Given the description of an element on the screen output the (x, y) to click on. 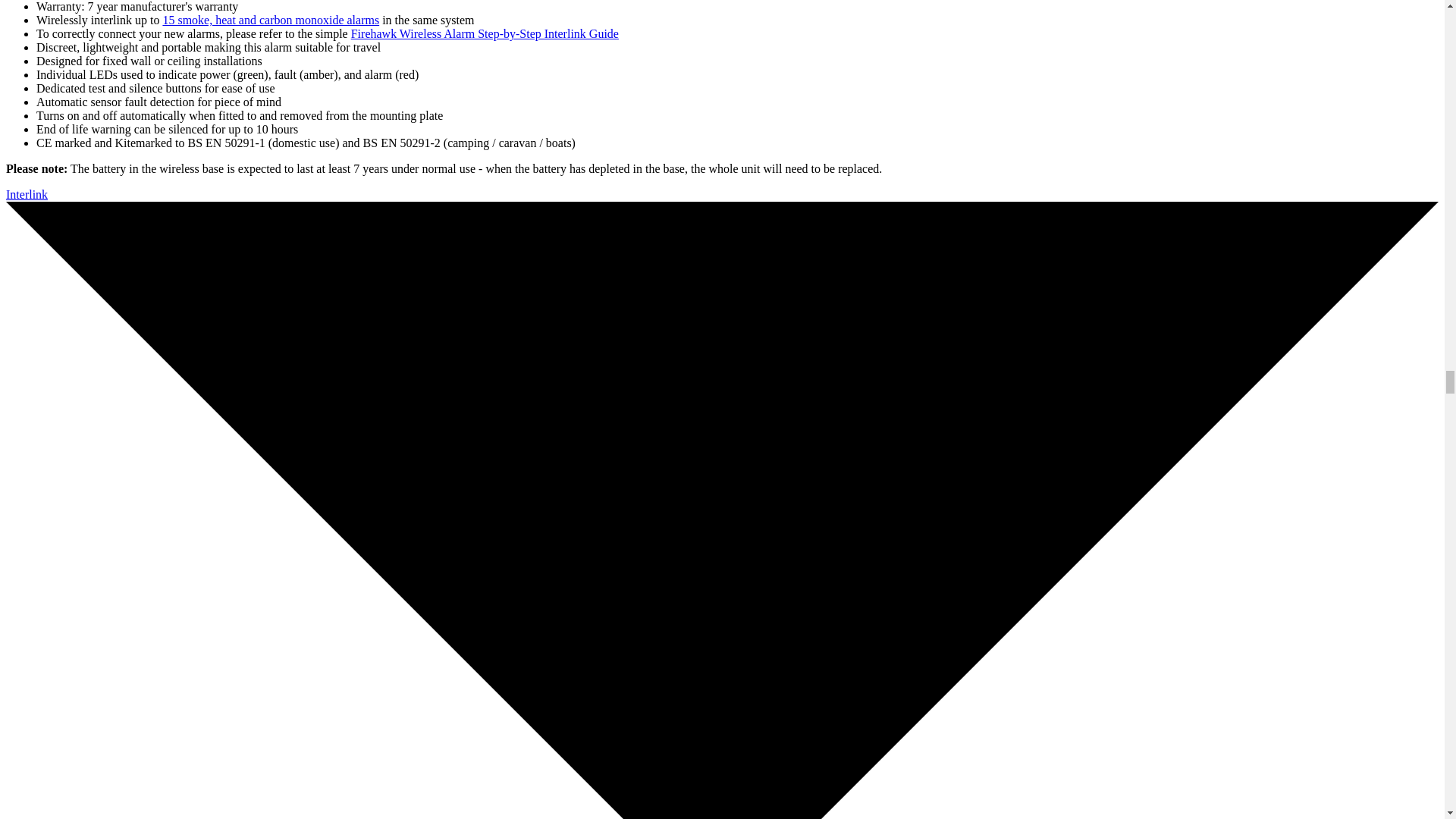
15 smoke, heat and carbon monoxide alarms (269, 19)
